Given the description of an element on the screen output the (x, y) to click on. 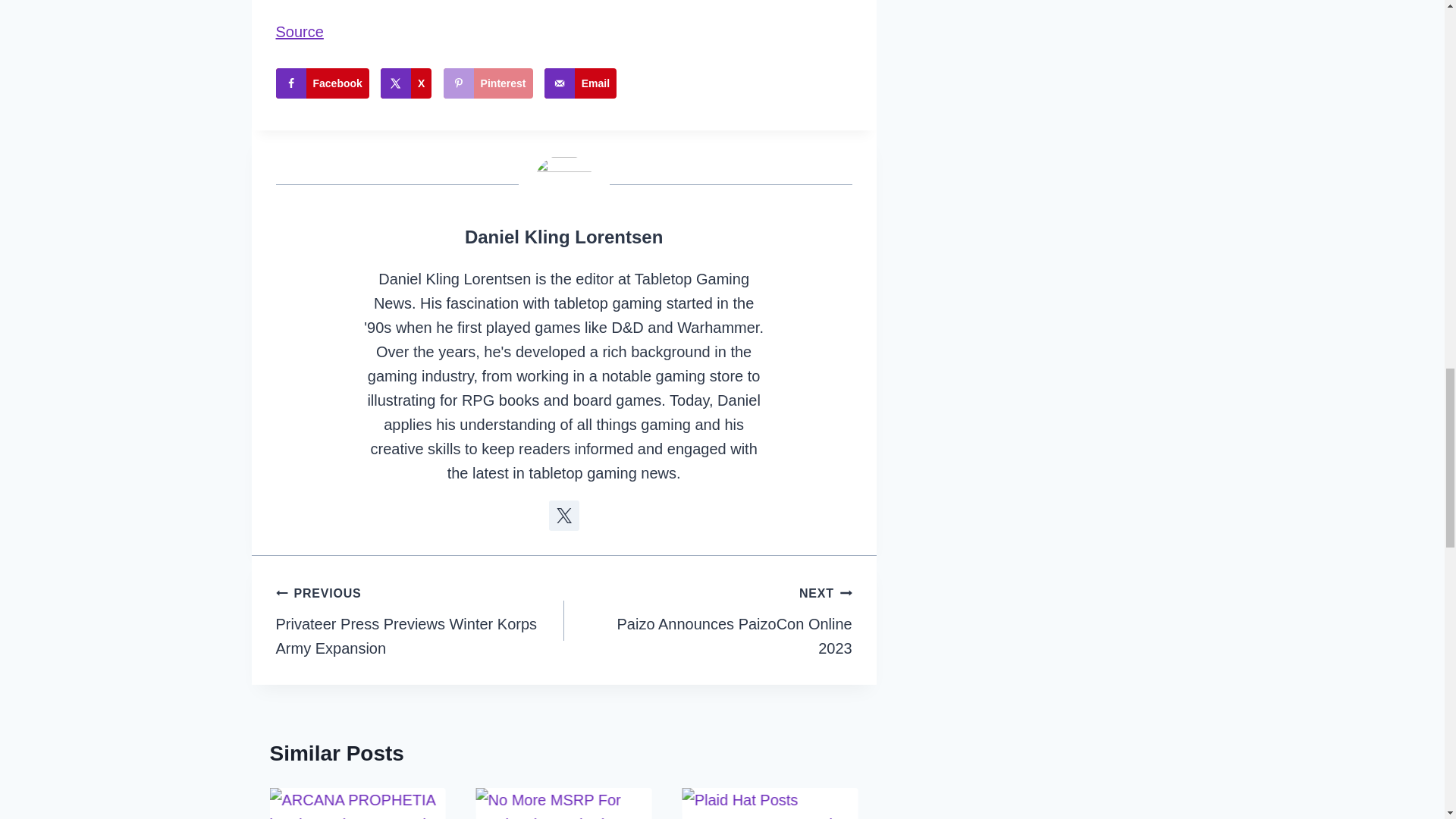
Share on Facebook (322, 82)
Posts by Daniel Kling Lorentsen (563, 236)
Share on X (405, 82)
Save to Pinterest (488, 82)
Send over email (579, 82)
Follow Daniel Kling Lorentsen on X formerly Twitter (563, 515)
